Given the description of an element on the screen output the (x, y) to click on. 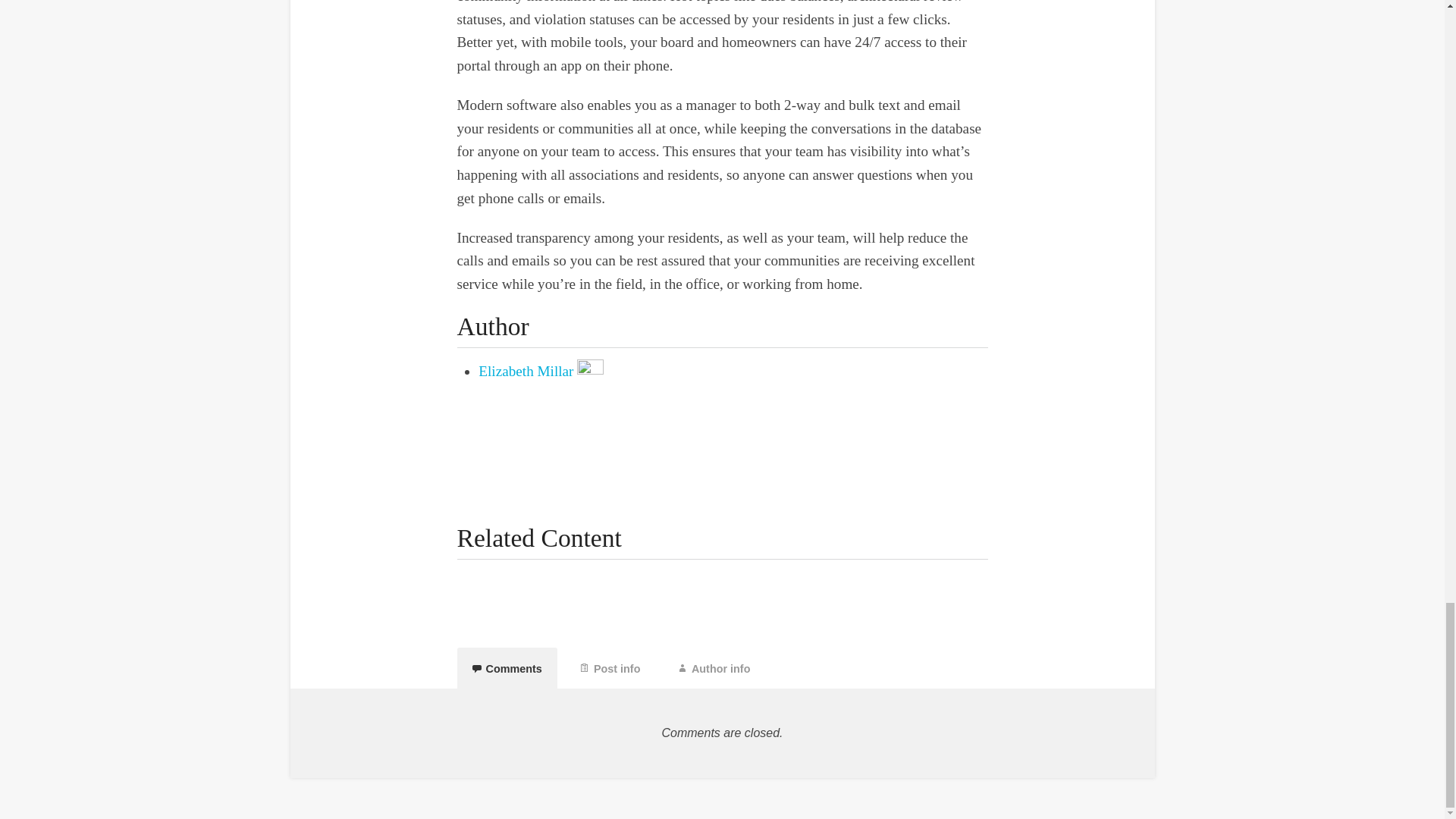
Post info (610, 667)
Author info (713, 667)
Comments (506, 667)
Elizabeth Millar (526, 371)
